Given the description of an element on the screen output the (x, y) to click on. 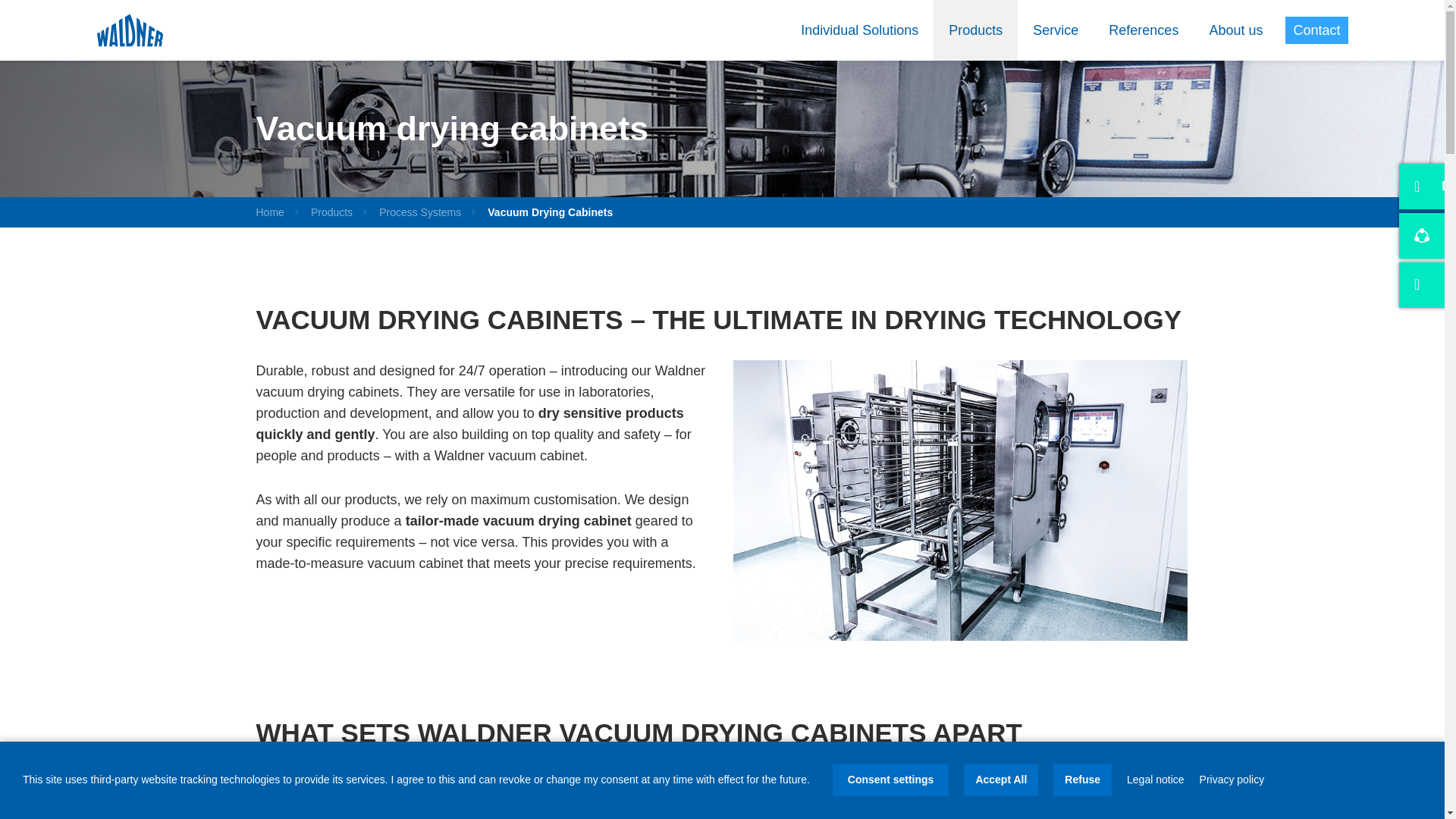
Individual Solutions (859, 29)
Products (976, 29)
